Given the description of an element on the screen output the (x, y) to click on. 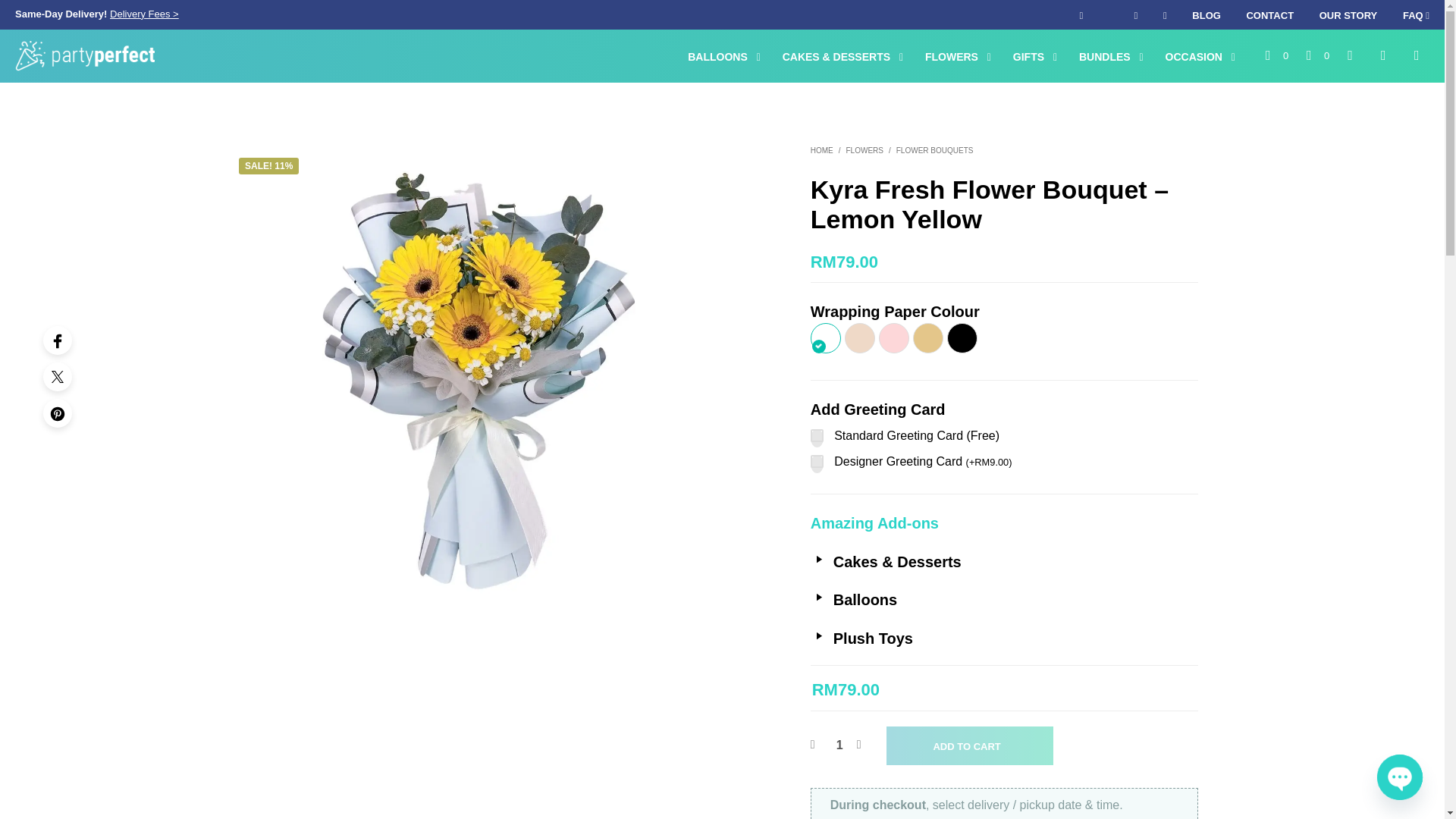
OUR STORY (1348, 15)
BLOG (1205, 15)
1 (839, 745)
CONTACT (1269, 15)
FAQ  (1416, 15)
BALLOONS (717, 57)
